Given the description of an element on the screen output the (x, y) to click on. 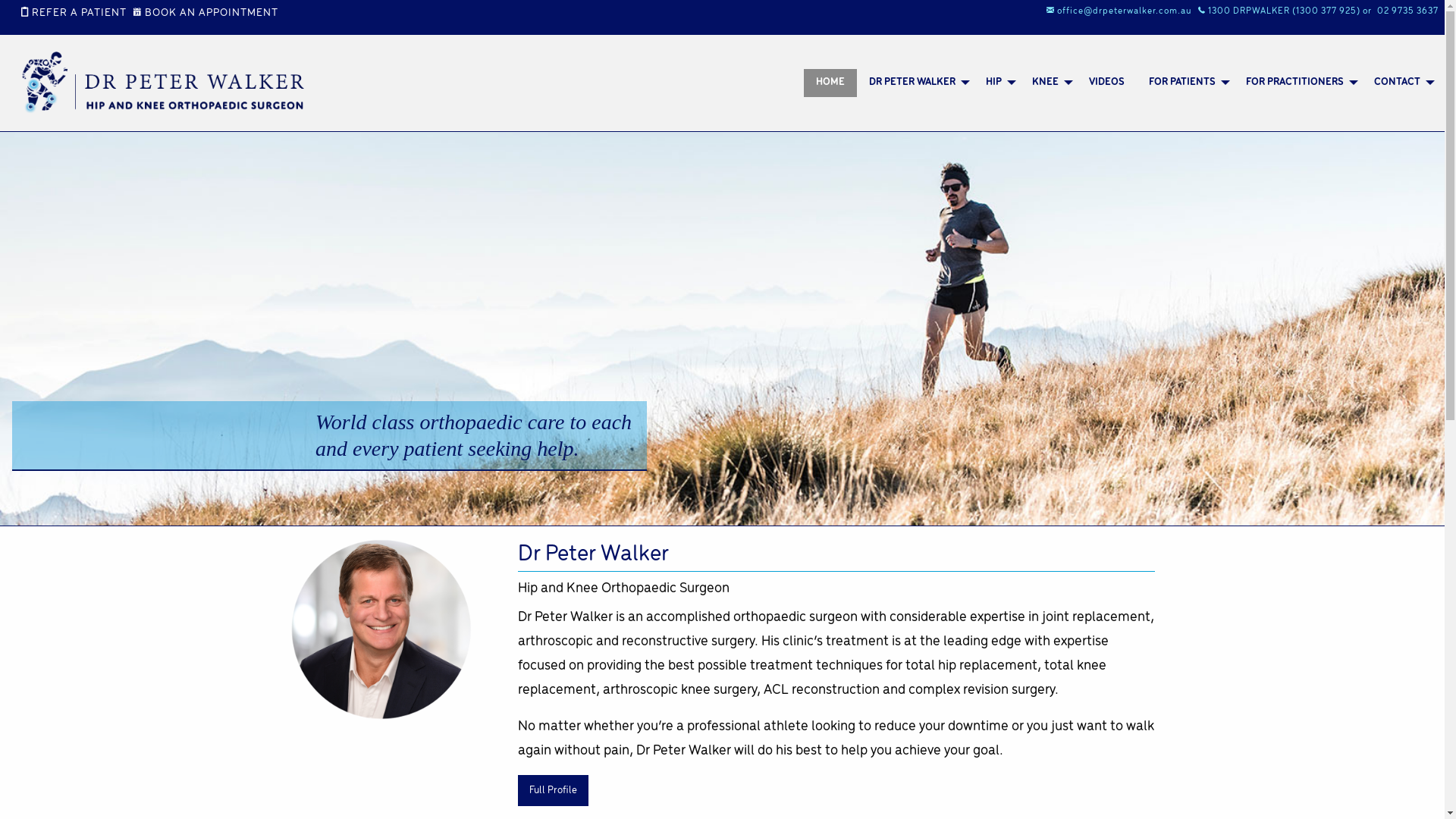
REFER A PATIENT Element type: text (77, 12)
1300 DRPWALKER (1300 377 925) or Element type: text (1287, 10)
VIDEOS Element type: text (1106, 83)
HOME Element type: text (829, 83)
CONTACT Element type: text (1399, 83)
HIP Element type: text (996, 83)
FOR PATIENTS Element type: text (1184, 83)
Full Profile Element type: text (552, 790)
BOOK AN APPOINTMENT Element type: text (209, 12)
02 9735 3637 Element type: text (1410, 10)
DR PETER WALKER Element type: text (914, 83)
FOR PRACTITIONERS Element type: text (1297, 83)
office@drpeterwalker.com.au Element type: text (1122, 10)
KNEE Element type: text (1047, 83)
